Given the description of an element on the screen output the (x, y) to click on. 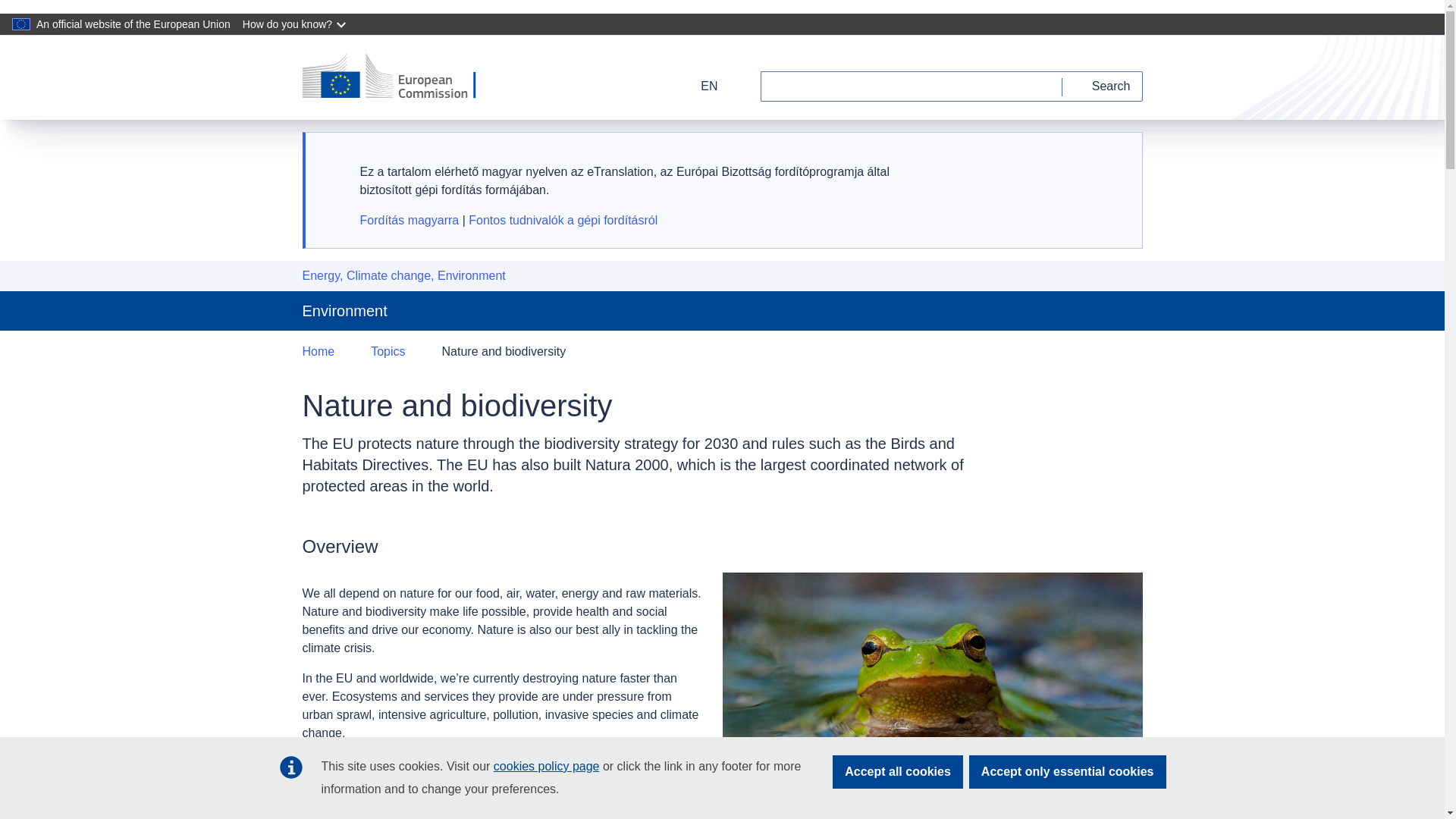
Accept all cookies (897, 771)
How do you know? (295, 24)
Topics (387, 351)
Search (1102, 86)
European Commission (399, 77)
Accept only essential cookies (1067, 771)
cookies policy page (546, 766)
Home (317, 351)
Energy, Climate change, Environment (403, 275)
EN (699, 86)
biodiversity strategy for 2030 (600, 762)
